Given the description of an element on the screen output the (x, y) to click on. 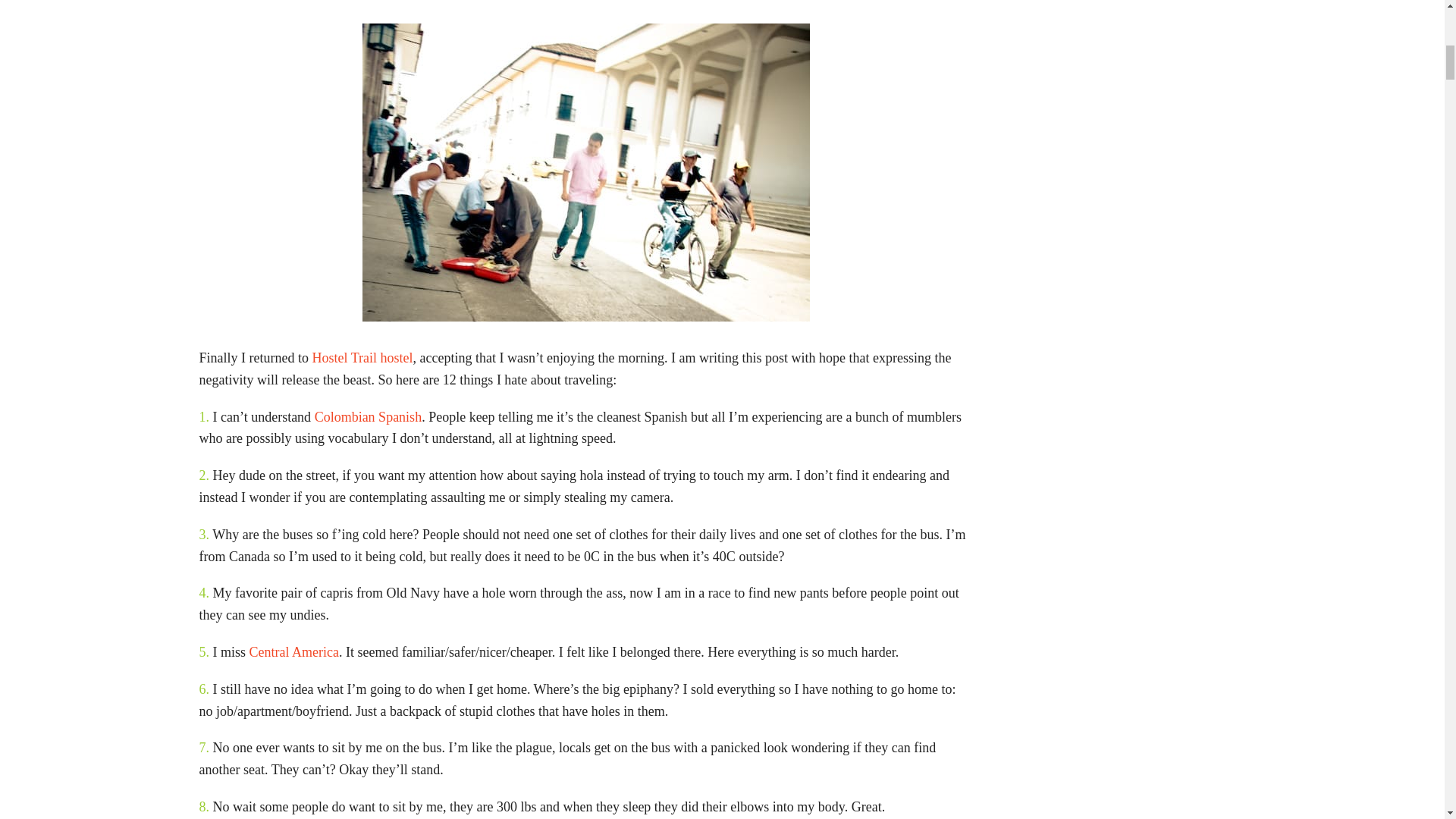
Hostel Trail hostel (361, 357)
Popayan Street (585, 172)
Central America (293, 652)
Colombian Spanish (368, 417)
